Given the description of an element on the screen output the (x, y) to click on. 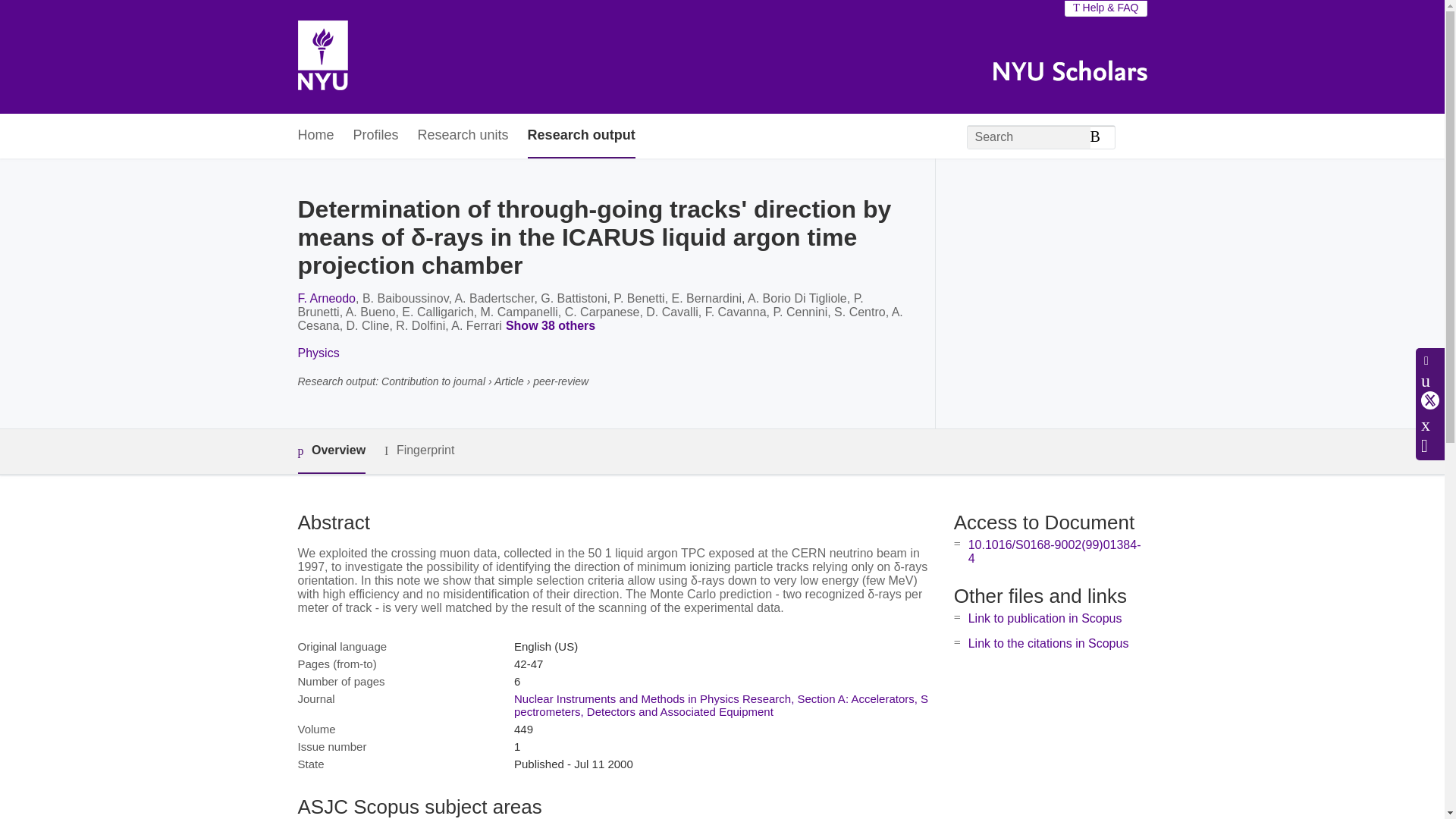
Profiles (375, 135)
Overview (331, 451)
Research units (462, 135)
Link to publication in Scopus (1045, 617)
Show 38 others (553, 326)
Link to the citations in Scopus (1048, 643)
F. Arneodo (326, 297)
Fingerprint (419, 450)
Physics (318, 352)
Research output (580, 135)
